Given the description of an element on the screen output the (x, y) to click on. 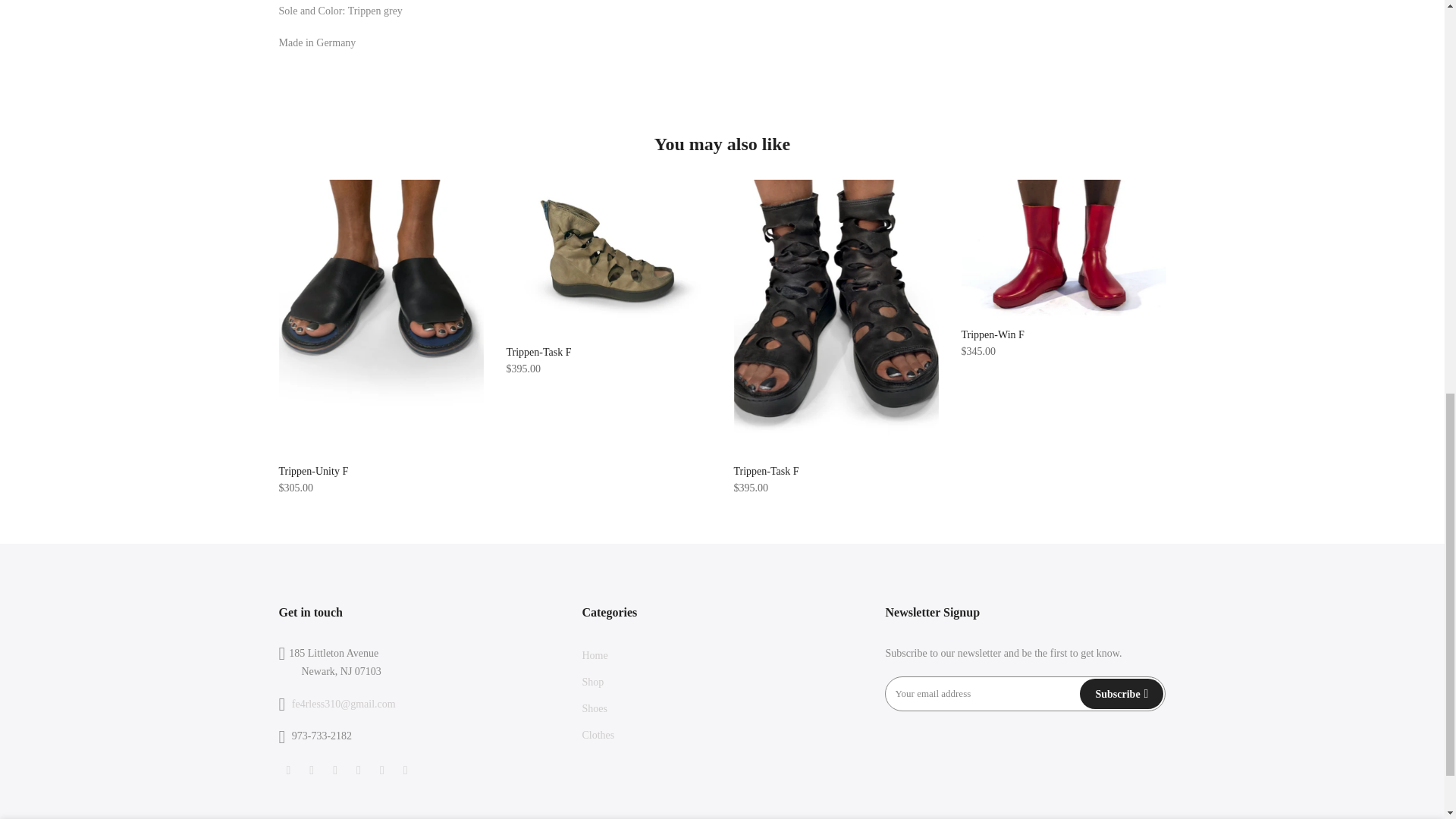
1 (1001, 35)
Trippen-Unity F (314, 471)
